Given the description of an element on the screen output the (x, y) to click on. 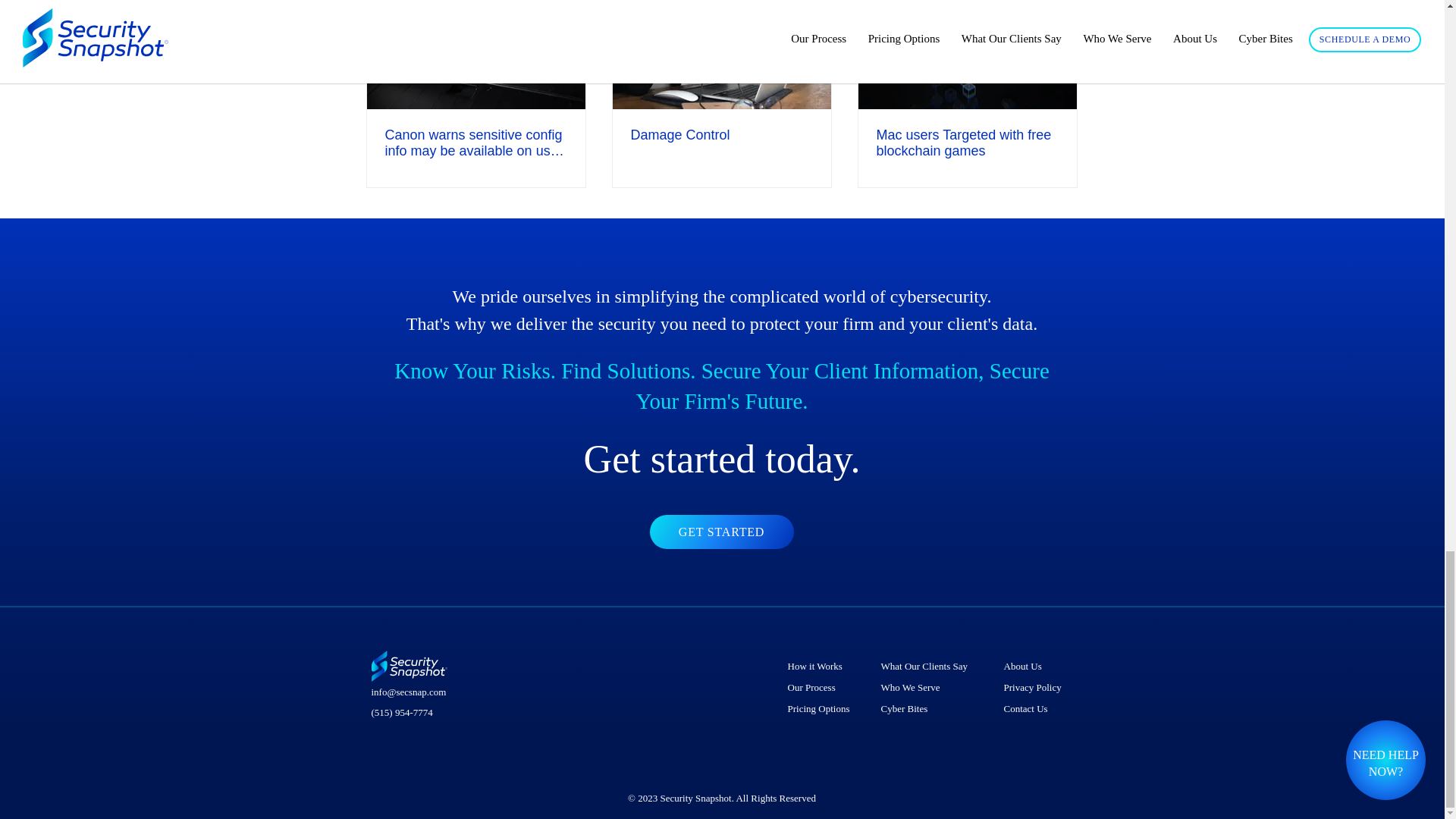
Mac users Targeted with free blockchain games (967, 142)
How it Works (819, 666)
Damage Control (721, 135)
GET STARTED (721, 531)
Cyber Bites (930, 708)
What Our Clients Say (930, 666)
Our Process (819, 687)
Who We Serve (930, 687)
Contact Us (1033, 708)
About Us (1033, 666)
Privacy Policy (1033, 687)
Pricing Options (819, 708)
